Given the description of an element on the screen output the (x, y) to click on. 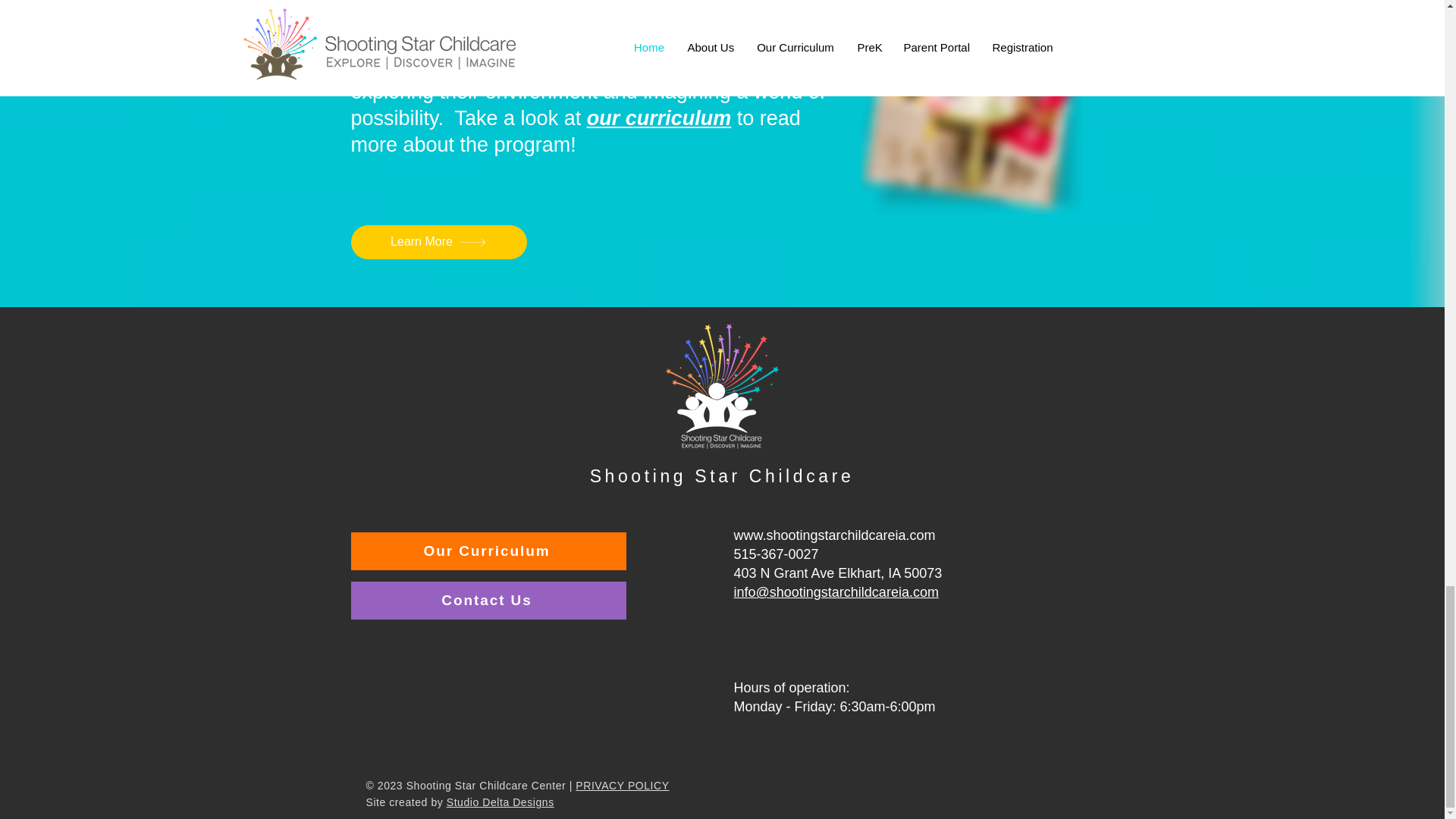
Our Curriculum (488, 551)
www.shootingstarchildcareia.com (834, 534)
Contact Us (488, 600)
Learn More (437, 242)
Studio Delta Designs (500, 802)
our curriculum (659, 118)
PRIVACY POLICY (621, 785)
